Given the description of an element on the screen output the (x, y) to click on. 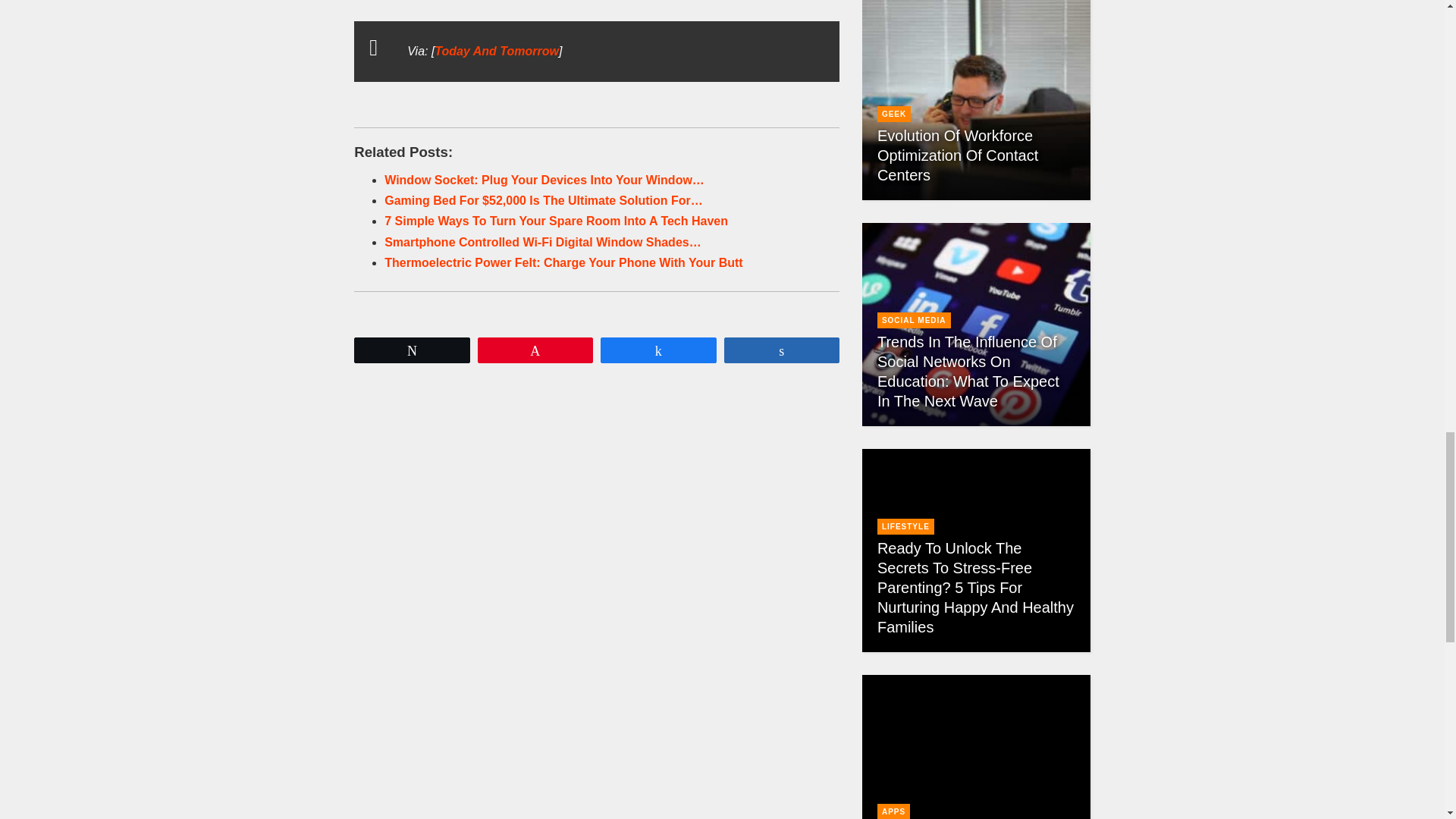
Today And Tomorrow - Website (496, 51)
